Given the description of an element on the screen output the (x, y) to click on. 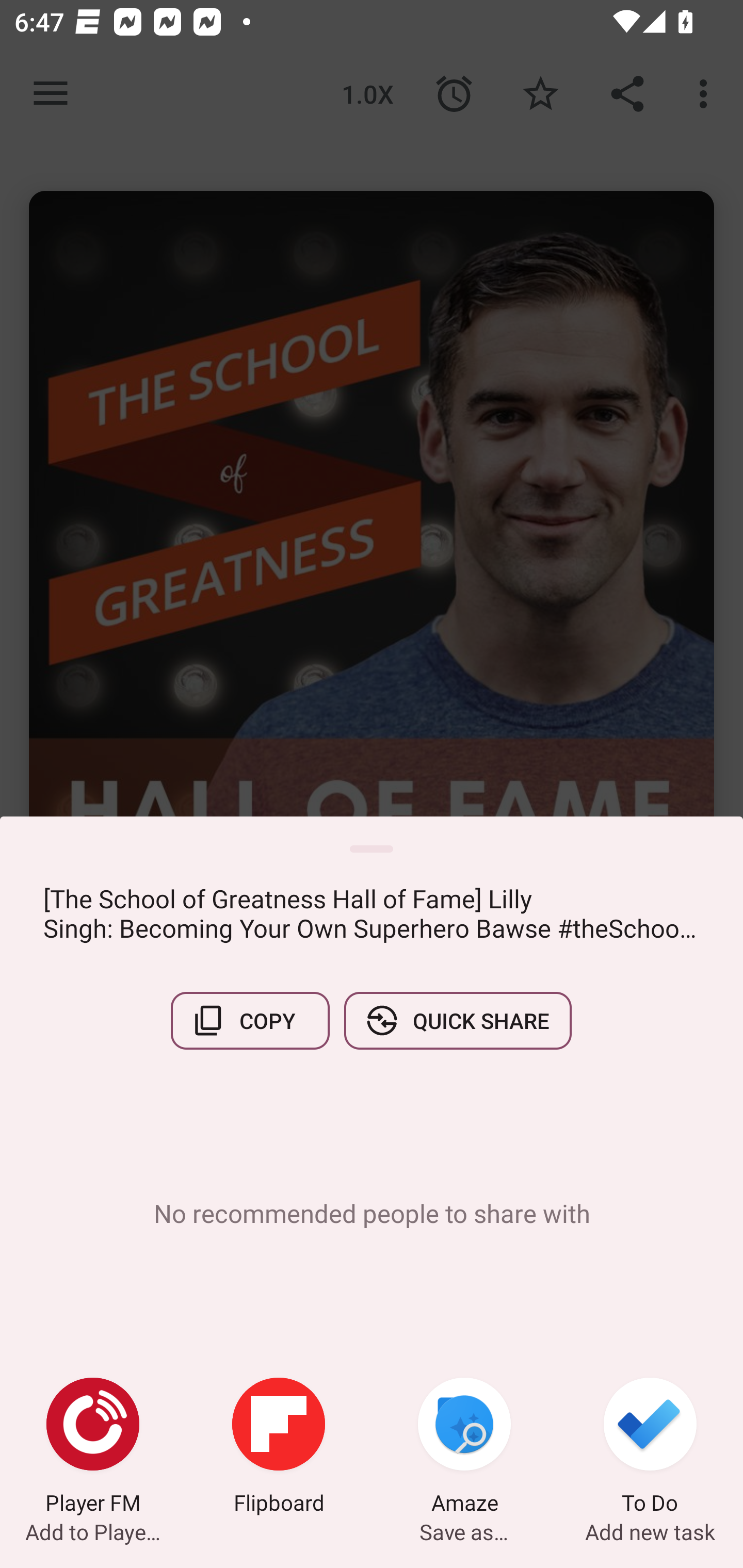
COPY (249, 1020)
QUICK SHARE (457, 1020)
Player FM Add to Player FM (92, 1448)
Flipboard (278, 1448)
Amaze Save as… (464, 1448)
To Do Add new task (650, 1448)
